Given the description of an element on the screen output the (x, y) to click on. 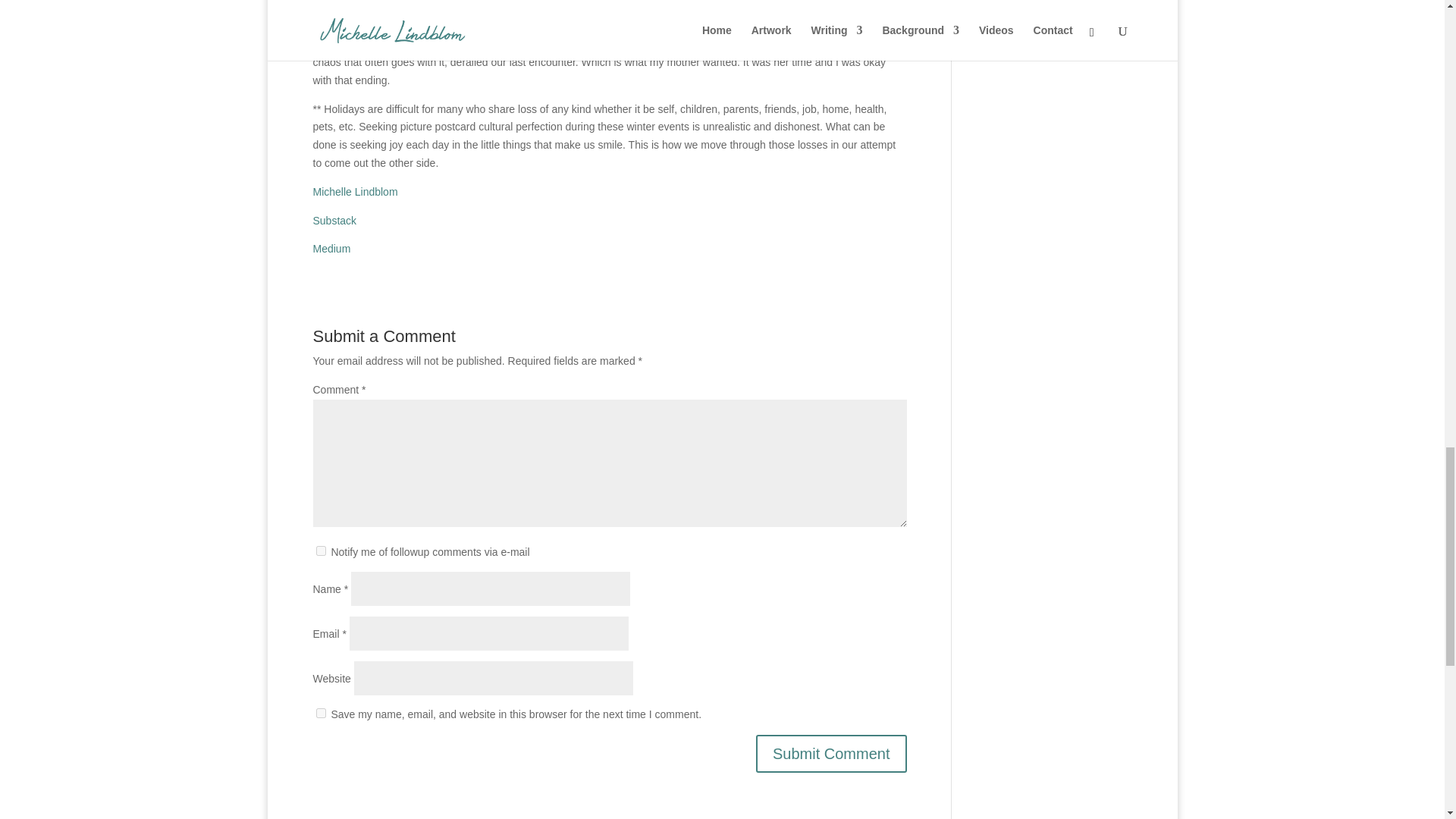
subscribe (319, 551)
yes (319, 713)
Medium (331, 248)
Submit Comment (831, 753)
Michelle Lindblom (355, 191)
Substack (334, 220)
Submit Comment (831, 753)
